Given the description of an element on the screen output the (x, y) to click on. 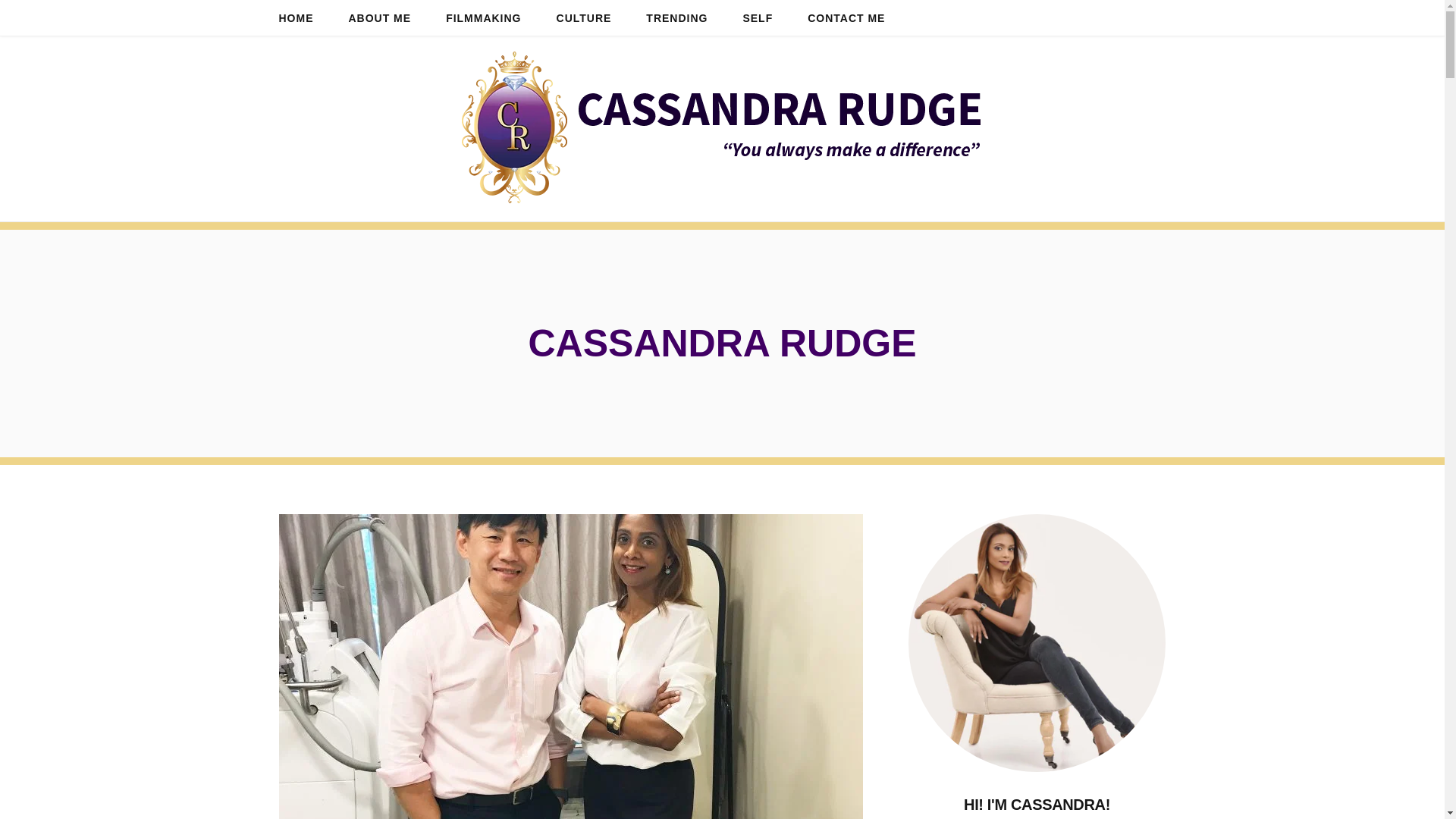
CONTACT ME (846, 18)
Cassandra Rudge (721, 128)
ABOUT ME (380, 18)
CULTURE (583, 18)
FILMMAKING (483, 18)
SELF (757, 18)
TRENDING (676, 18)
HOME (295, 18)
